Given the description of an element on the screen output the (x, y) to click on. 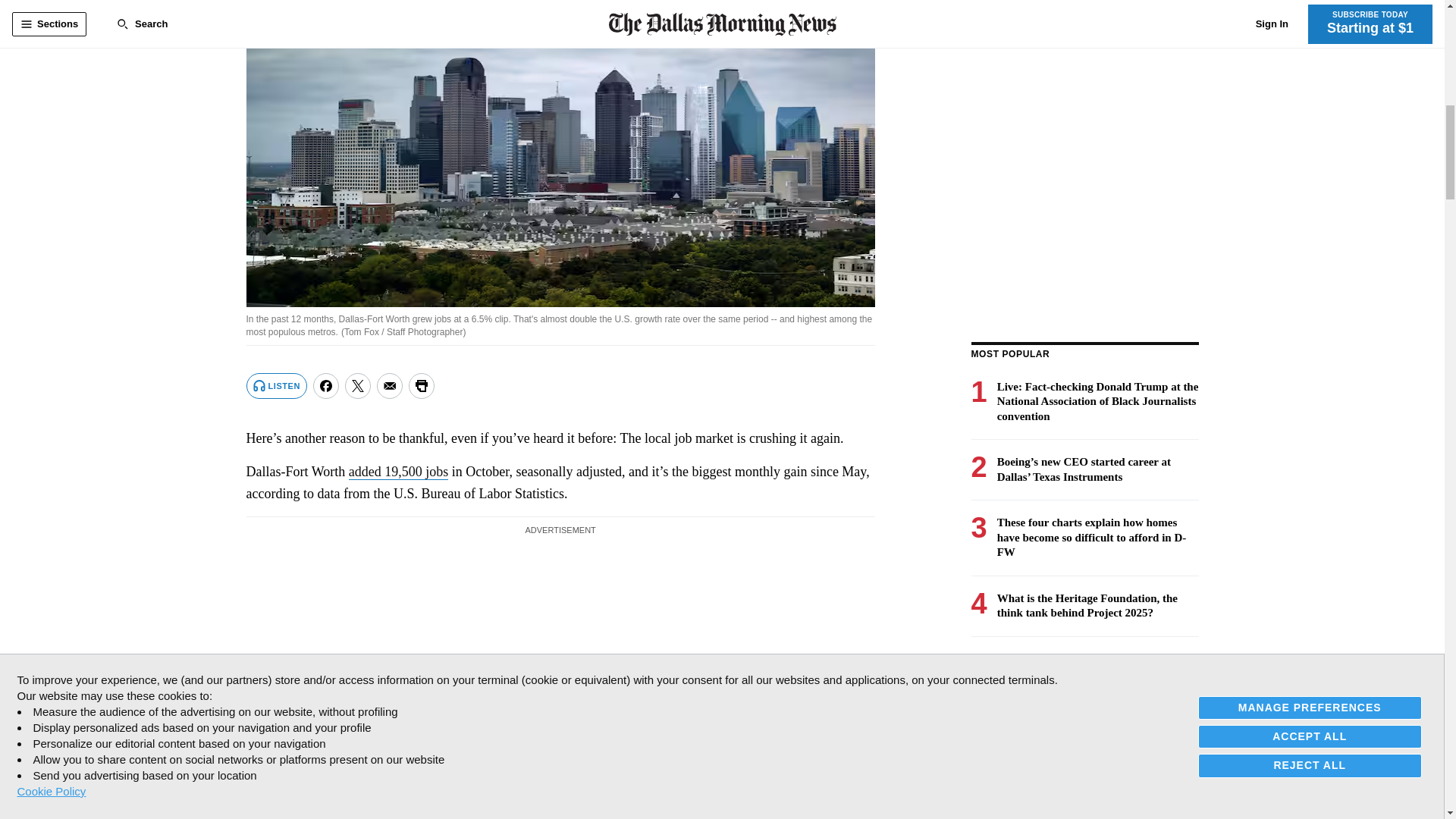
Print (421, 385)
Share on Twitter (358, 385)
Share via Email (390, 385)
Share on Facebook (326, 385)
